Given the description of an element on the screen output the (x, y) to click on. 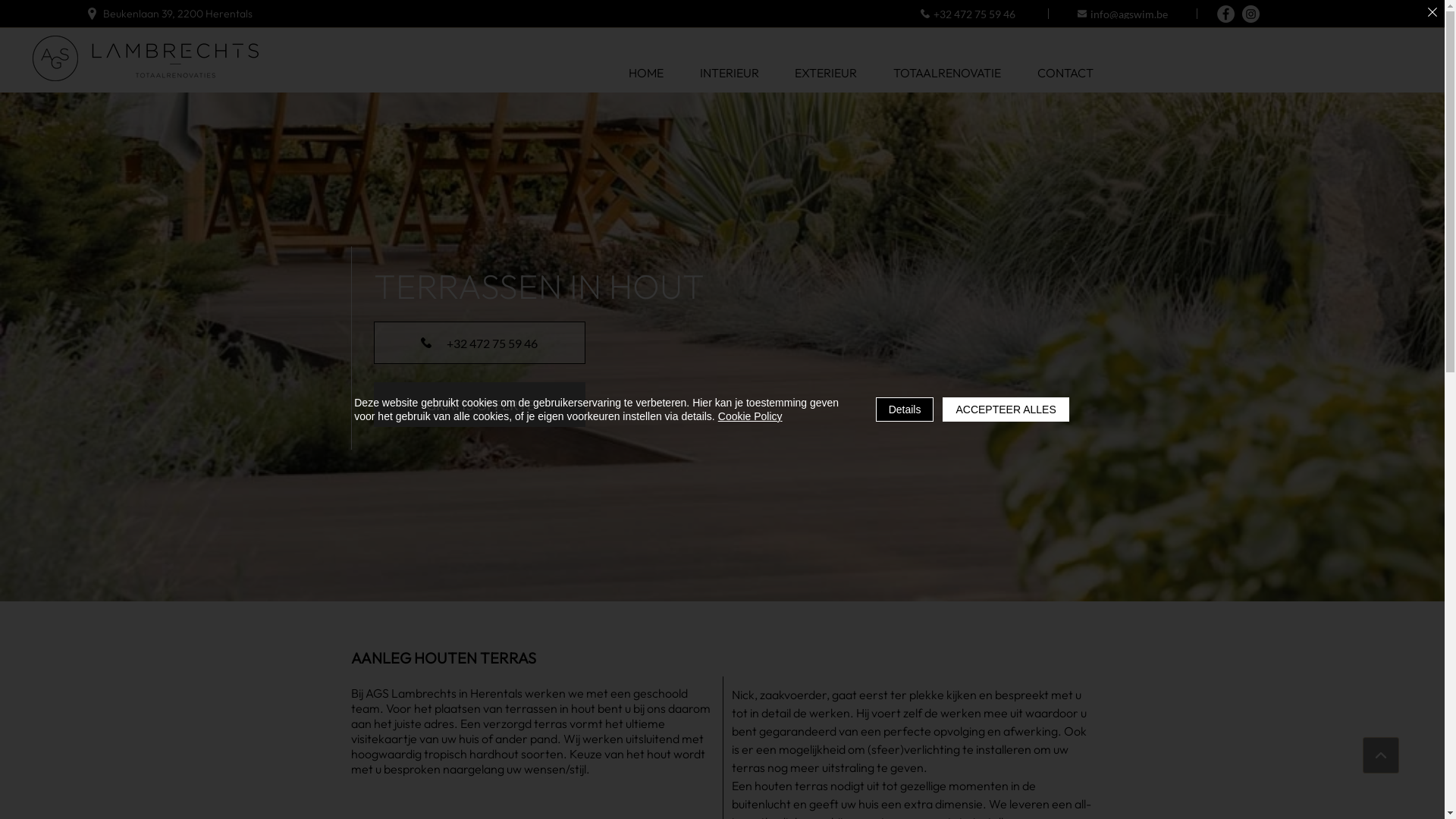
info@agswim.be Element type: text (1122, 13)
Cookie Policy Element type: text (750, 416)
+32 472 75 59 46 Element type: text (967, 13)
Details Element type: text (904, 409)
GRATIS OFFERTE Element type: text (478, 404)
TOTAALRENOVATIE Element type: text (946, 72)
ACCEPTEER ALLES Element type: text (1005, 409)
+32 472 75 59 46 Element type: text (478, 342)
HOME Element type: text (645, 72)
CONTACT Element type: text (1065, 72)
